Given the description of an element on the screen output the (x, y) to click on. 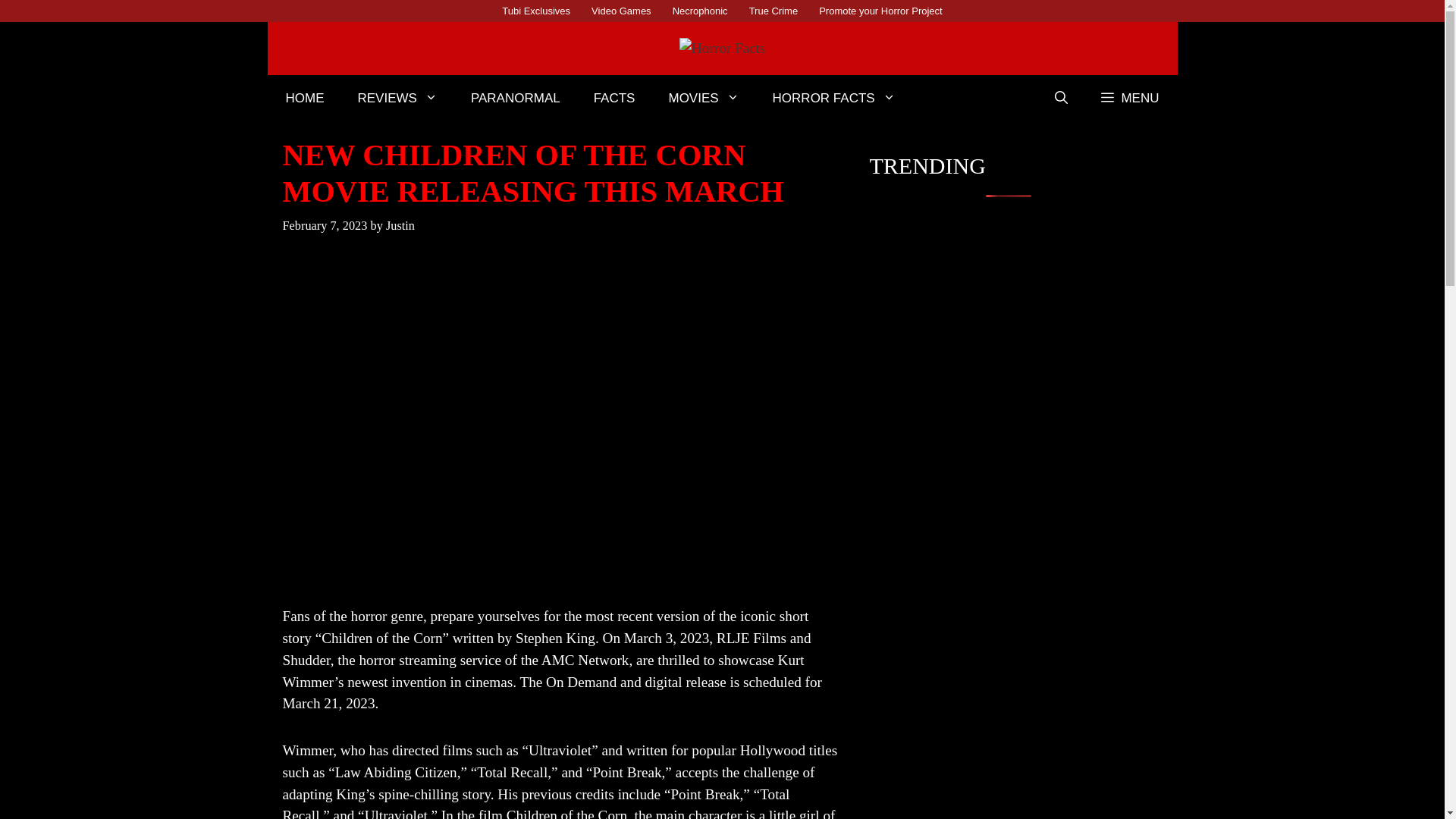
Video Games (621, 11)
PARANORMAL (515, 98)
FACTS (614, 98)
Tubi Exclusives (536, 11)
Promote your Horror Project (880, 11)
Necrophonic (700, 11)
True Crime (773, 11)
REVIEWS (397, 98)
View all posts by Justin (399, 225)
HOME (303, 98)
